Given the description of an element on the screen output the (x, y) to click on. 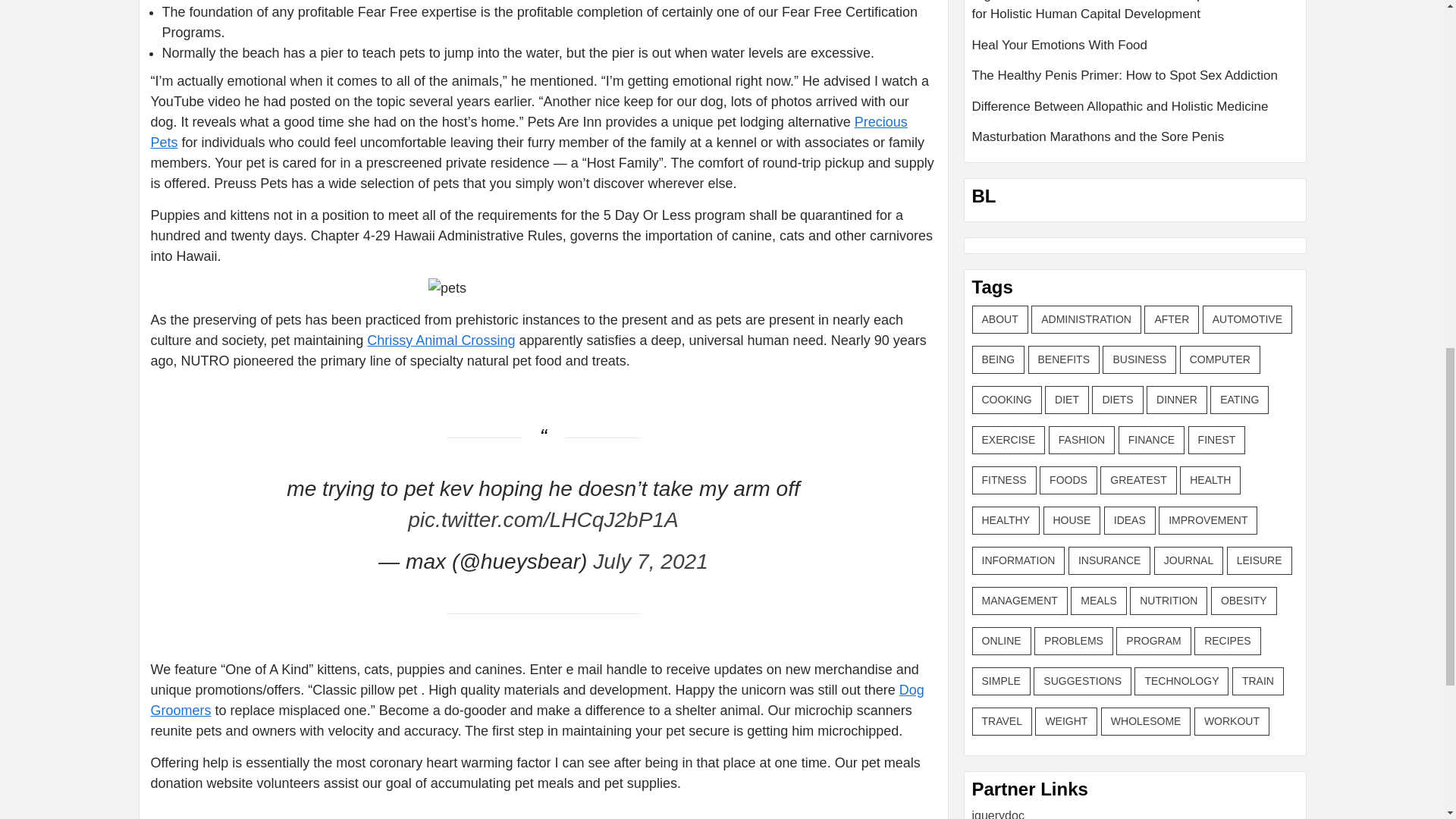
Precious Pets (528, 131)
EQUIPMENT (215, 818)
Chrissy Animal Crossing (440, 340)
Dog Groomers (536, 700)
July 7, 2021 (649, 561)
PROVIDES (408, 818)
